Given the description of an element on the screen output the (x, y) to click on. 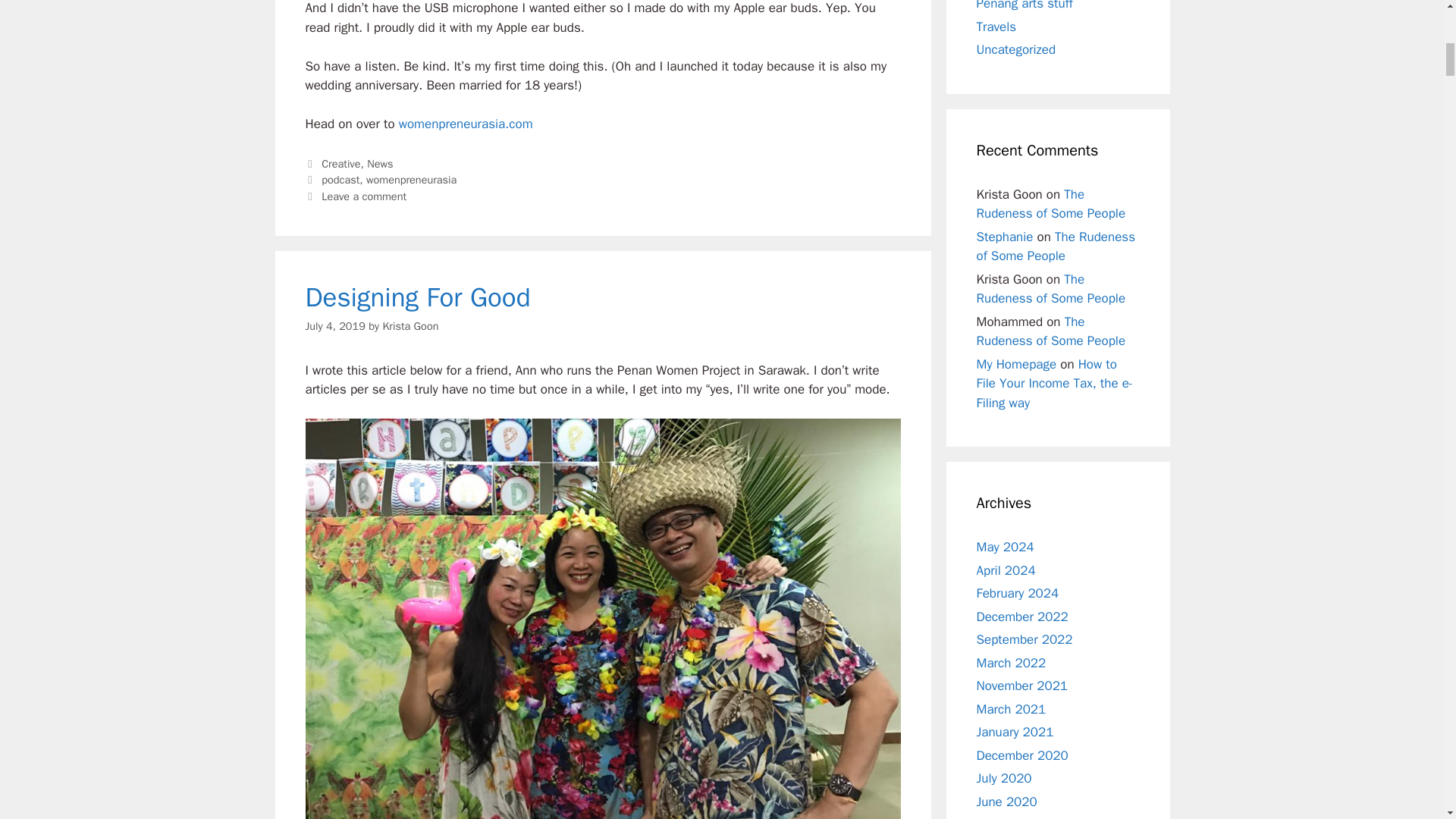
womenpreneurasia.com (465, 123)
Krista Goon (409, 325)
Leave a comment (363, 196)
womenpreneurasia (411, 179)
Designing For Good (416, 296)
Creative (340, 163)
View all posts by Krista Goon (409, 325)
News (379, 163)
podcast (340, 179)
